Given the description of an element on the screen output the (x, y) to click on. 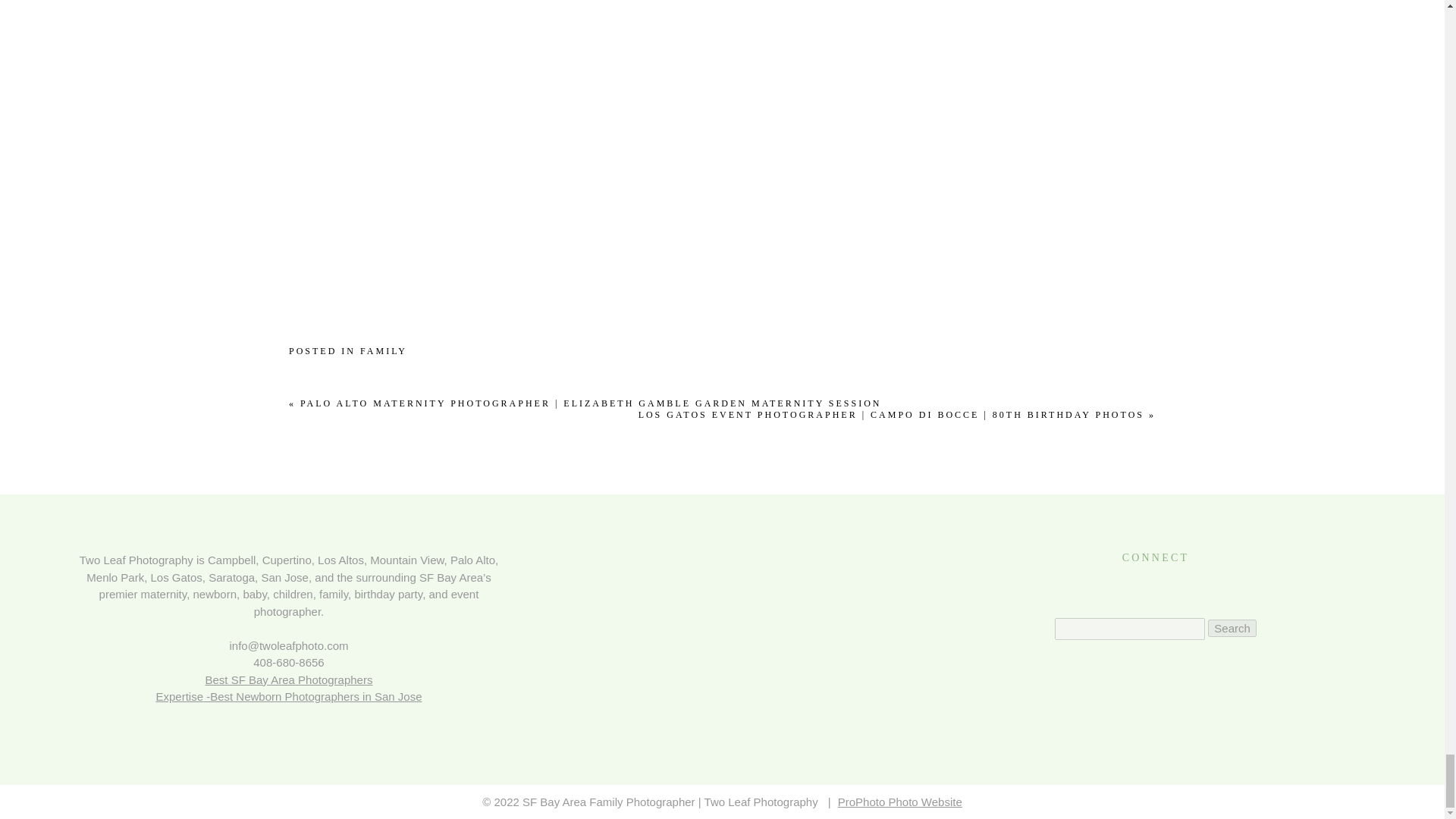
FAMILY (383, 350)
ProPhoto Blog Template (900, 801)
Search (1232, 628)
